Given the description of an element on the screen output the (x, y) to click on. 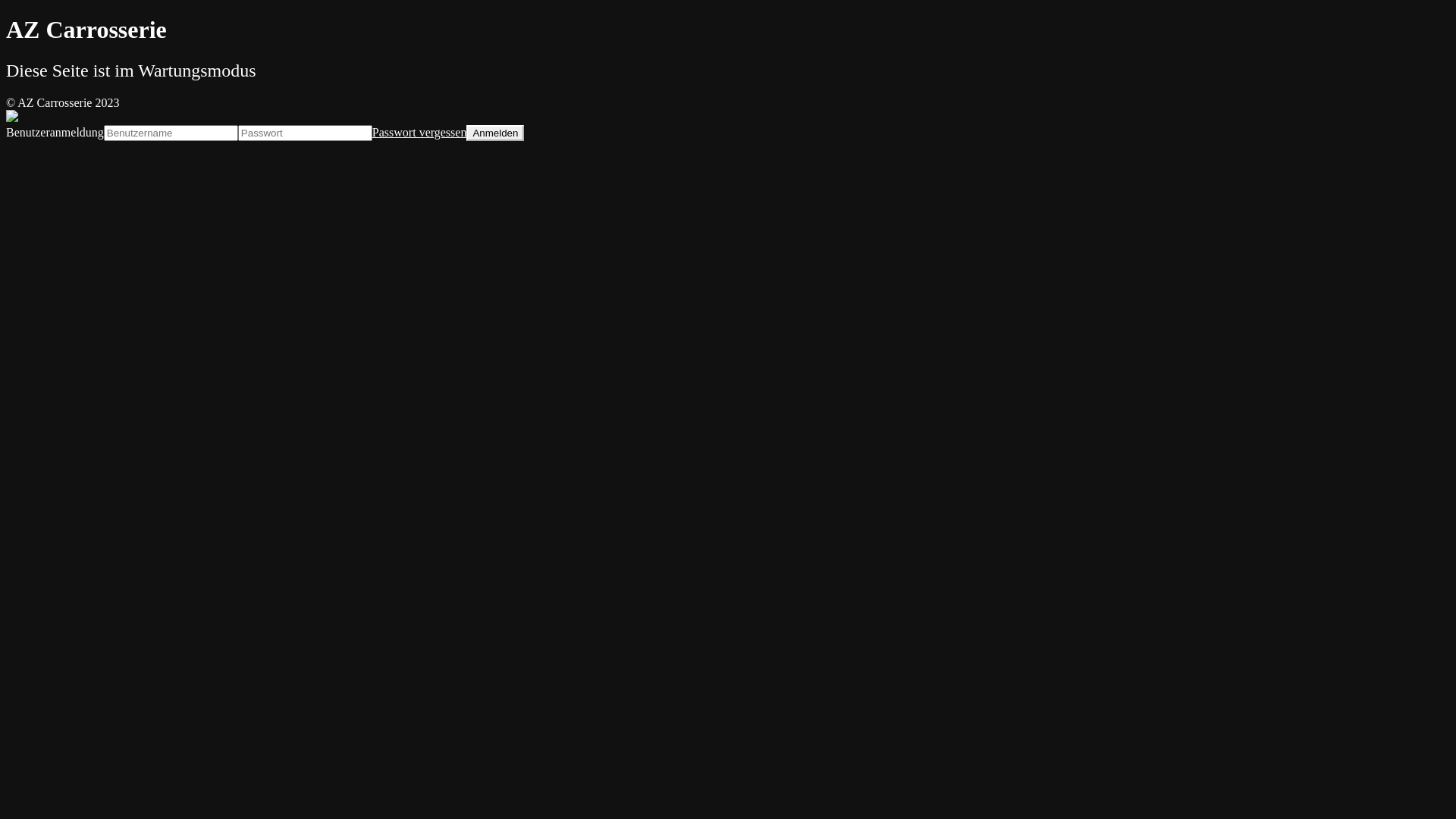
Anmelden Element type: text (495, 133)
Passwort vergessen Element type: text (419, 131)
